Given the description of an element on the screen output the (x, y) to click on. 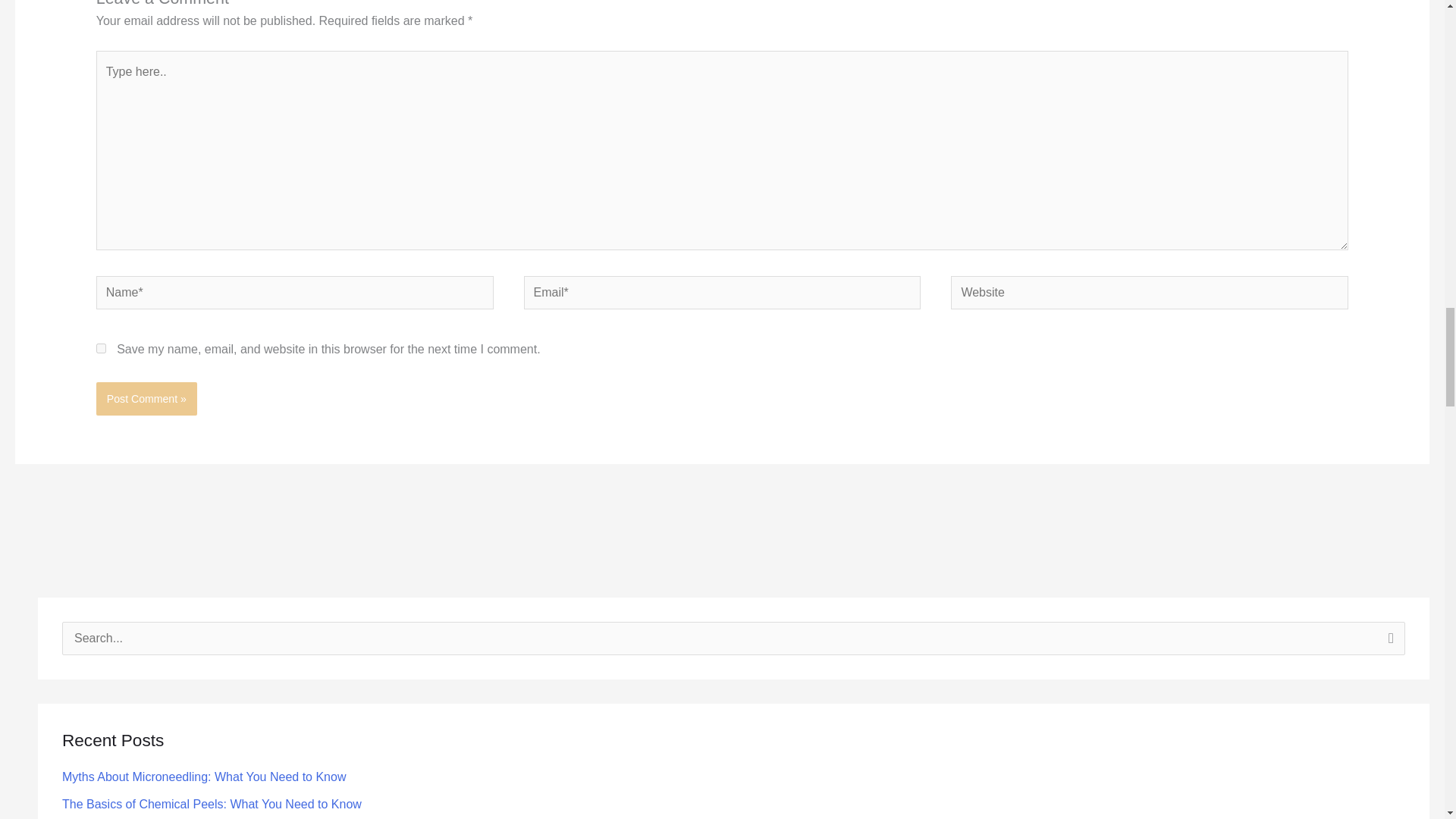
yes (101, 347)
